Given the description of an element on the screen output the (x, y) to click on. 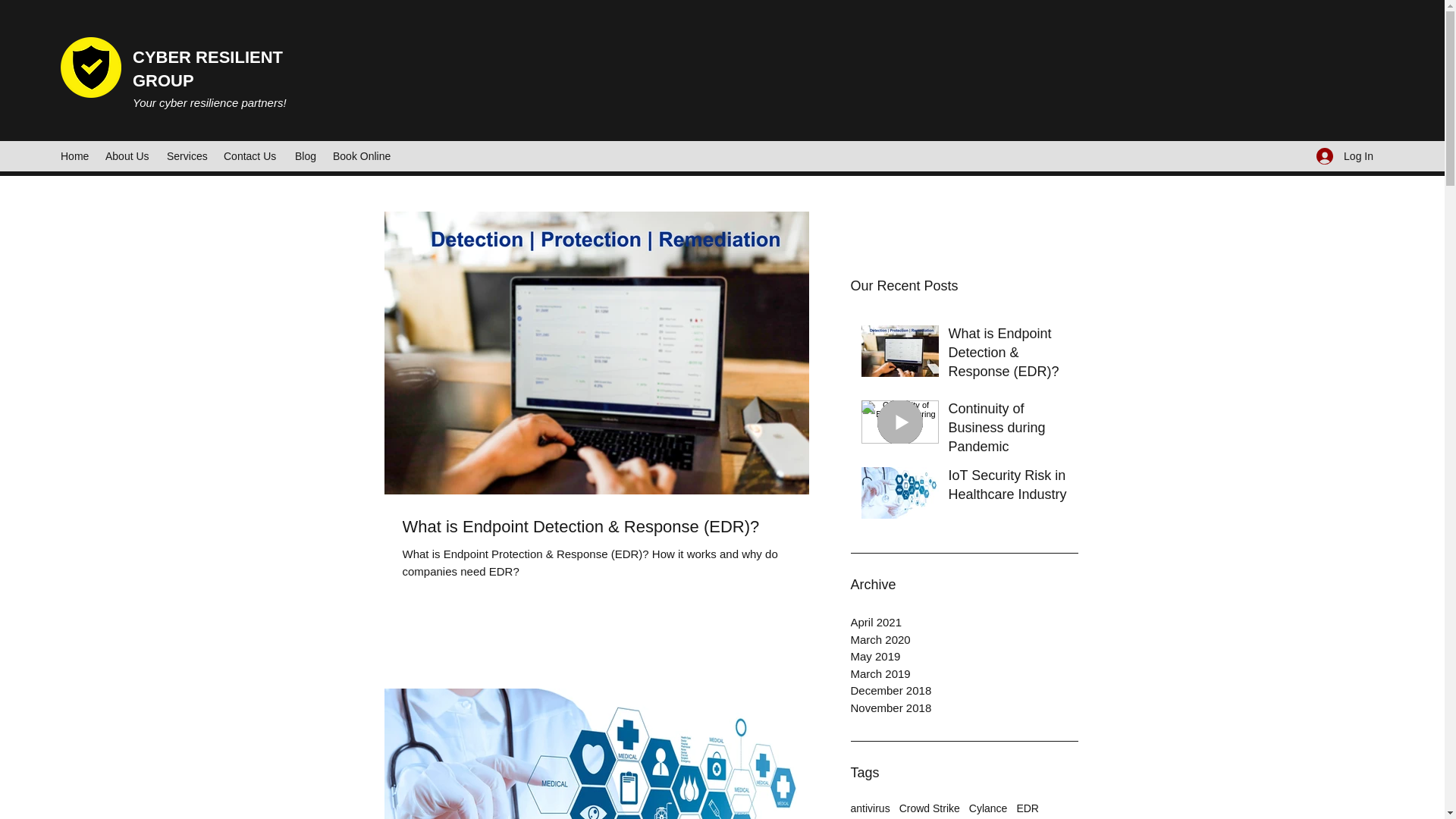
Cylance (988, 808)
Book Online (361, 155)
March 2020 (964, 639)
May 2019 (964, 656)
EDR (1027, 808)
About Us (127, 155)
November 2018 (964, 707)
IoT Security Risk in Healthcare Industry (1007, 488)
March 2019 (964, 674)
Continuity of Business during Pandemic (1007, 431)
